Given the description of an element on the screen output the (x, y) to click on. 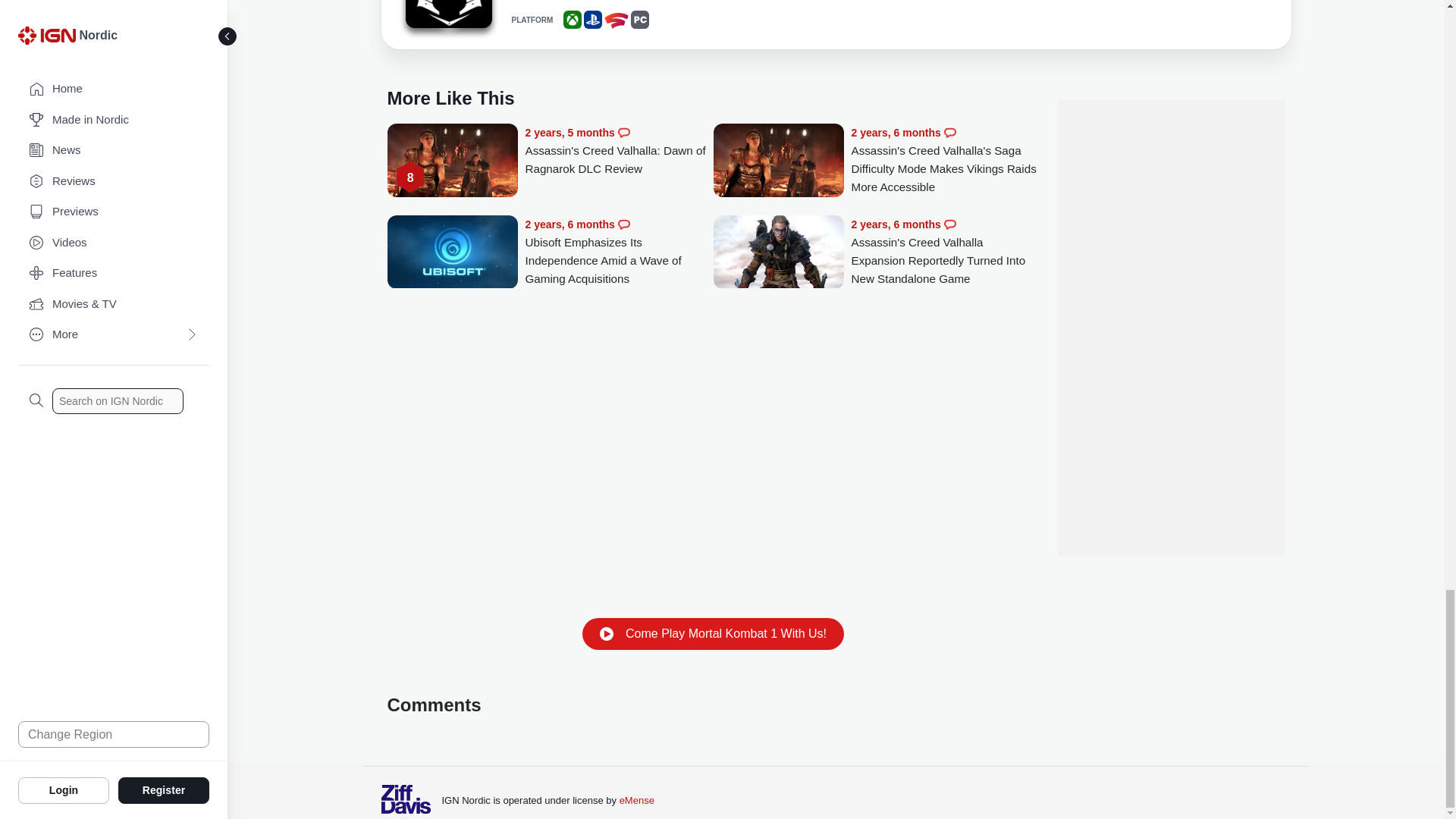
Assassins Creed 2020 (448, 16)
PS4 (592, 19)
Comments (623, 132)
Assassins Creed 2020 (448, 13)
XBOXONE (571, 19)
